Given the description of an element on the screen output the (x, y) to click on. 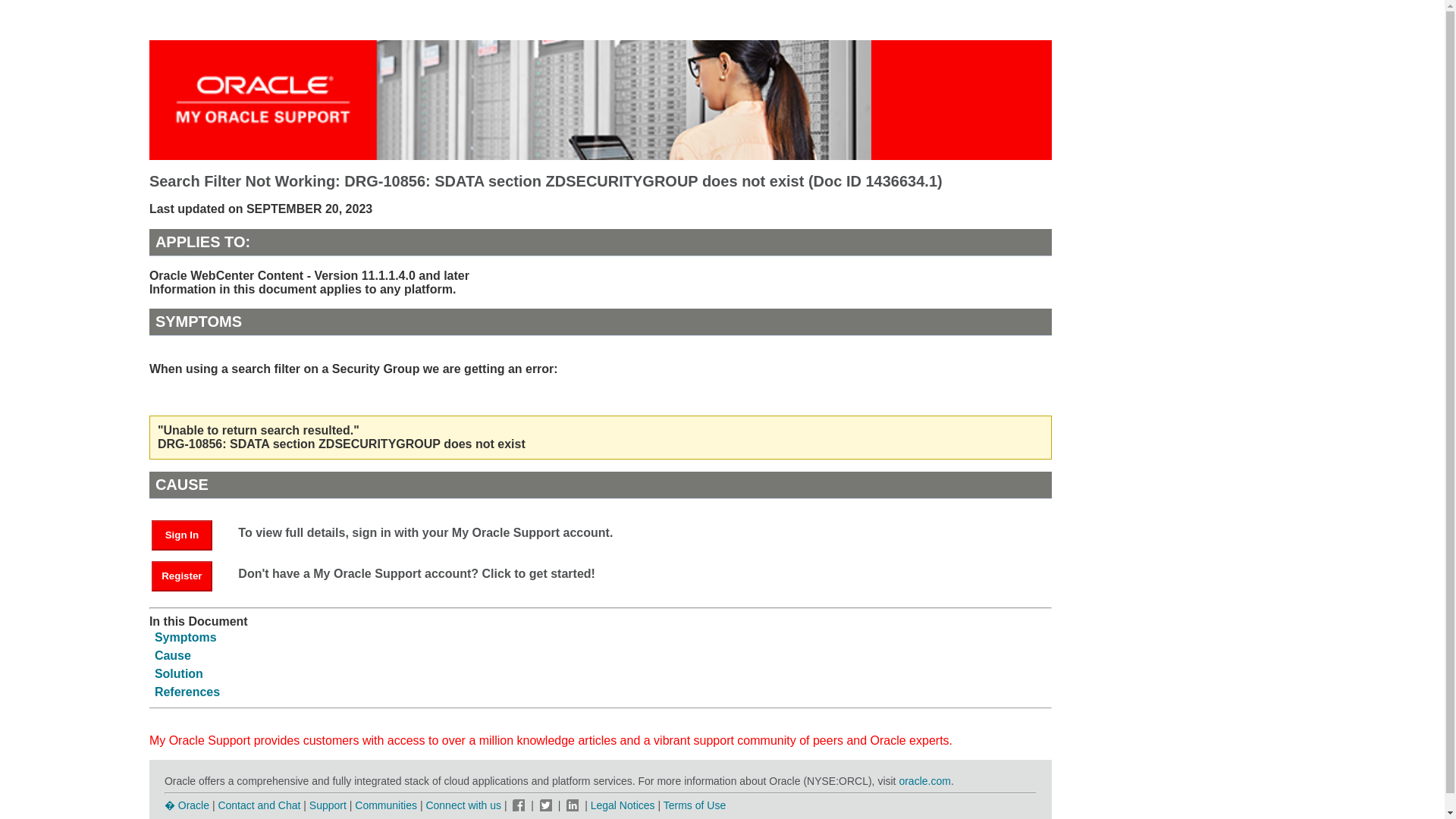
oracle.com (924, 780)
Connect with us (464, 805)
Register (189, 574)
Support (327, 805)
Sign In (181, 535)
References (186, 691)
Symptoms (185, 636)
Cause (172, 655)
Register (181, 576)
Terms of Use (694, 805)
Communities (385, 805)
oracle.com (924, 780)
Contact and Chat (257, 805)
Legal Notices (623, 805)
Sign In (189, 533)
